Given the description of an element on the screen output the (x, y) to click on. 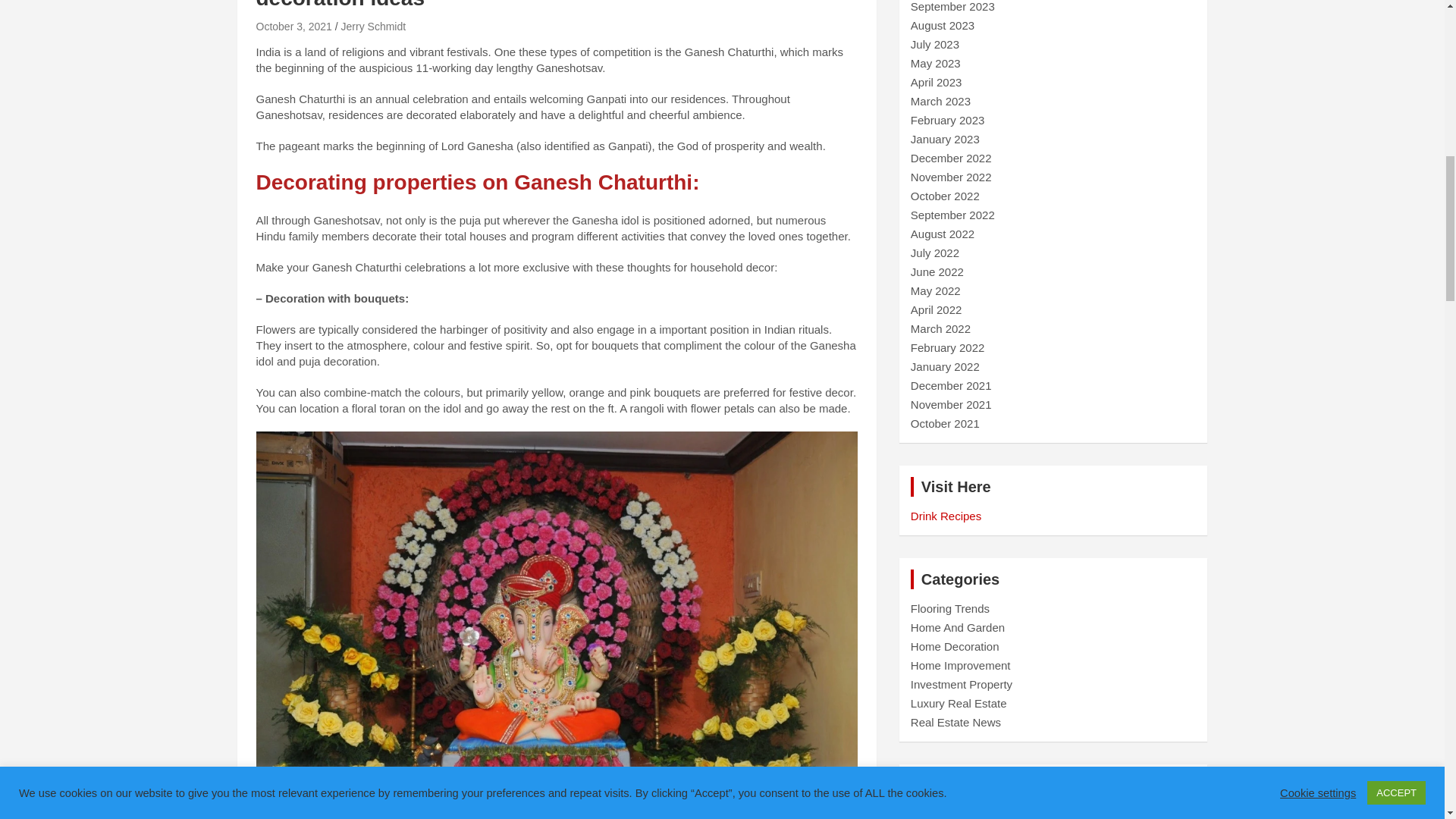
Jerry Schmidt (373, 26)
August 2023 (942, 24)
September 2023 (952, 6)
October 3, 2021 (293, 26)
